Given the description of an element on the screen output the (x, y) to click on. 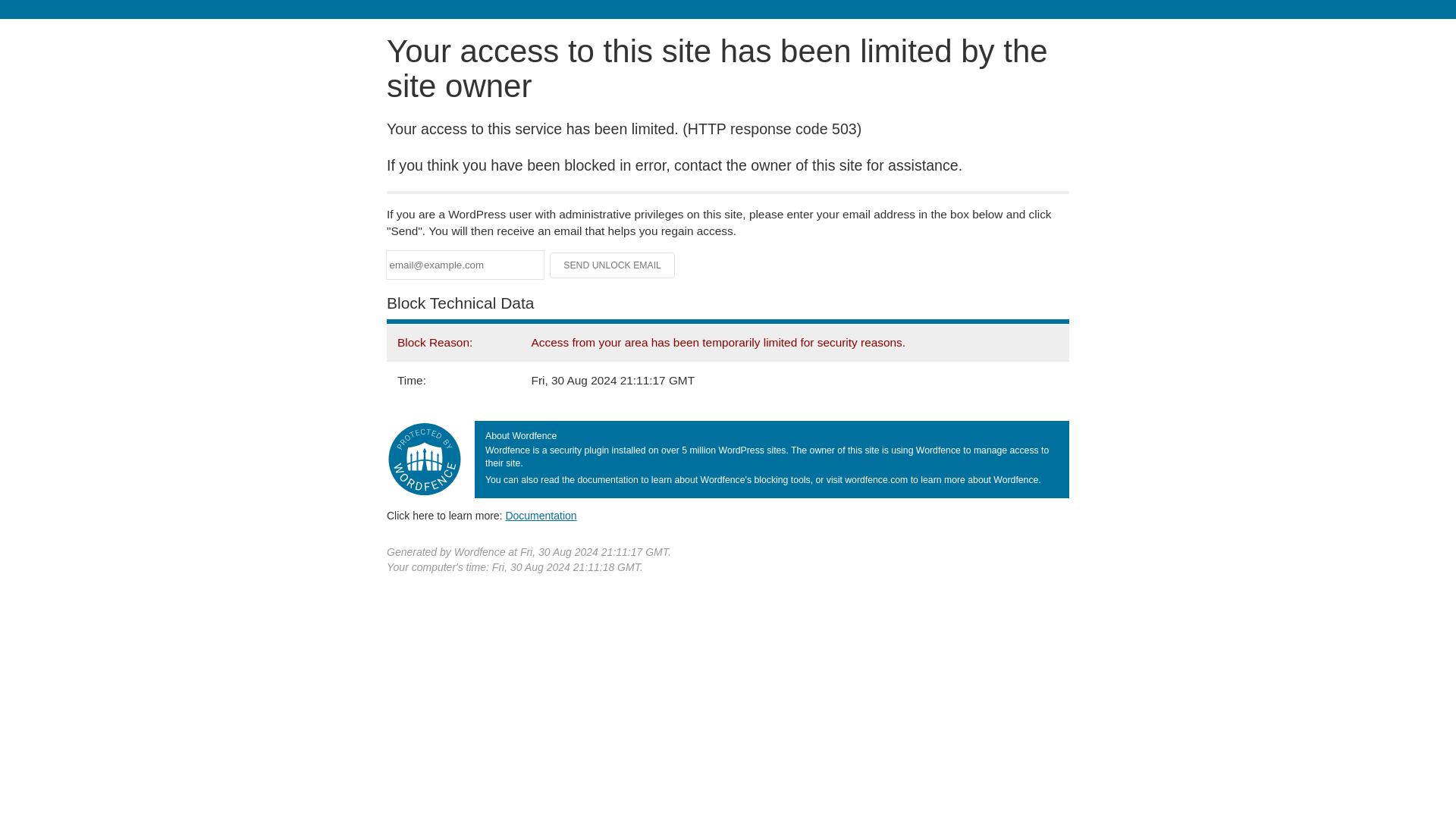
Send Unlock Email (612, 265)
Send Unlock Email (612, 265)
Documentation (540, 515)
